Given the description of an element on the screen output the (x, y) to click on. 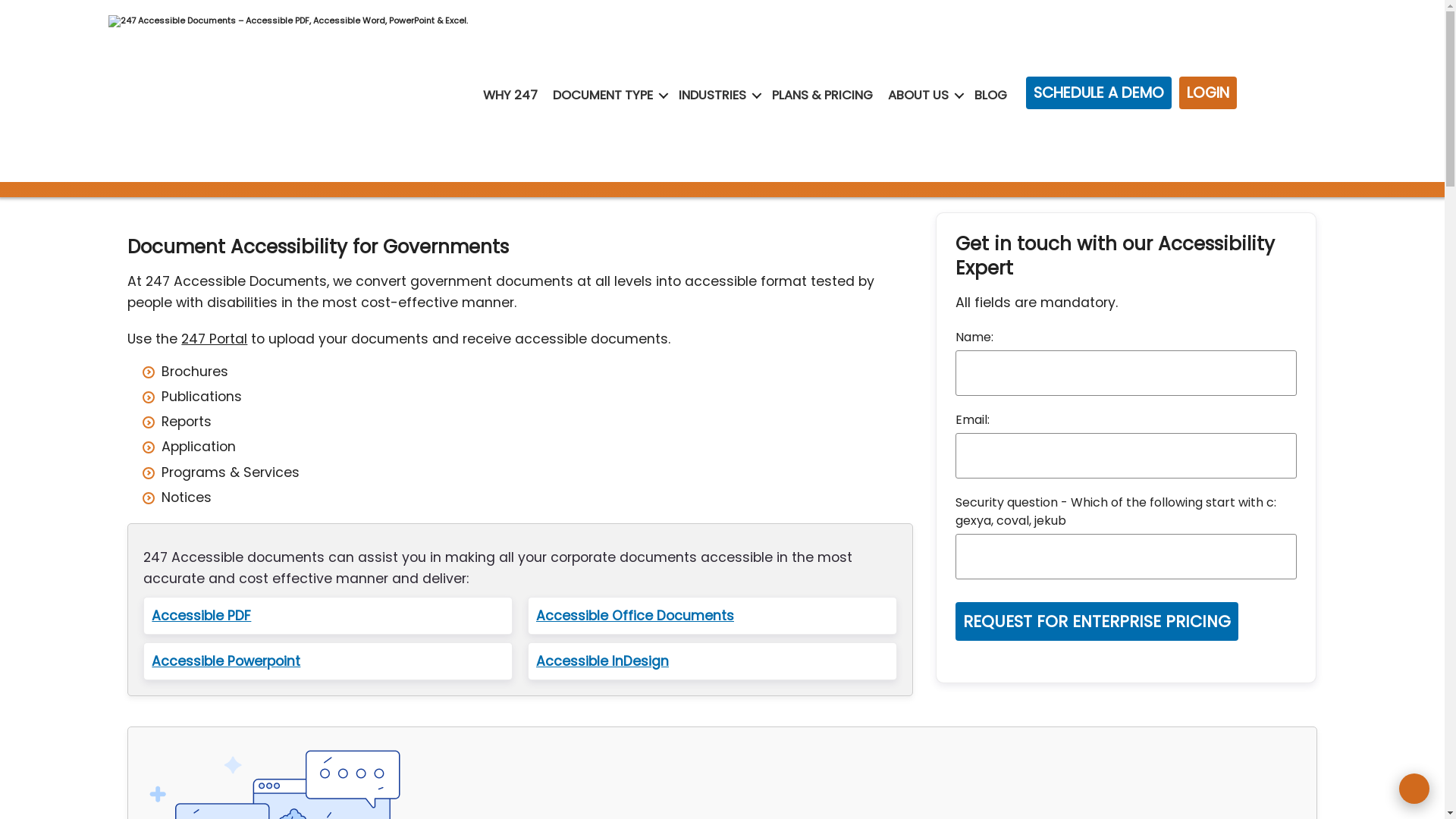
Accessible InDesign Element type: text (712, 661)
PLANS & PRICING Element type: text (822, 95)
INDUSTRIES Element type: text (711, 95)
DOCUMENT TYPE Element type: text (602, 95)
SCHEDULE A DEMO Element type: text (1098, 92)
Accessible Office Documents Element type: text (712, 615)
LOGIN Element type: text (1207, 92)
Accessible Powerpoint Element type: text (327, 661)
WHY 247 Element type: text (510, 95)
247 Portal Element type: text (214, 338)
BLOG Element type: text (990, 95)
Accessible PDF Element type: text (327, 615)
ABOUT US Element type: text (918, 95)
REQUEST FOR ENTERPRISE PRICING Element type: text (1096, 621)
